Given the description of an element on the screen output the (x, y) to click on. 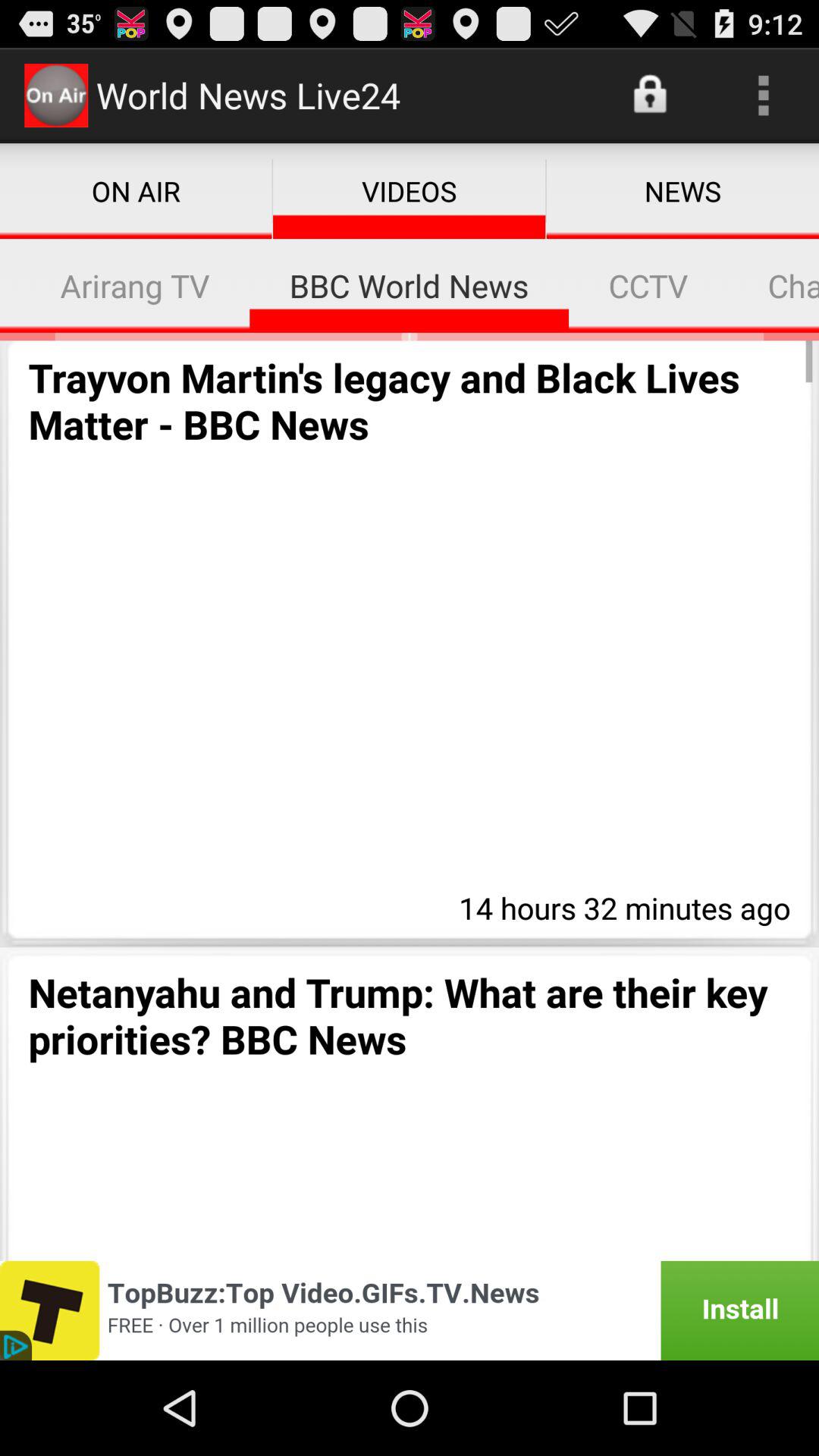
turn on the item to the left of      channel news asia      icon (648, 285)
